Given the description of an element on the screen output the (x, y) to click on. 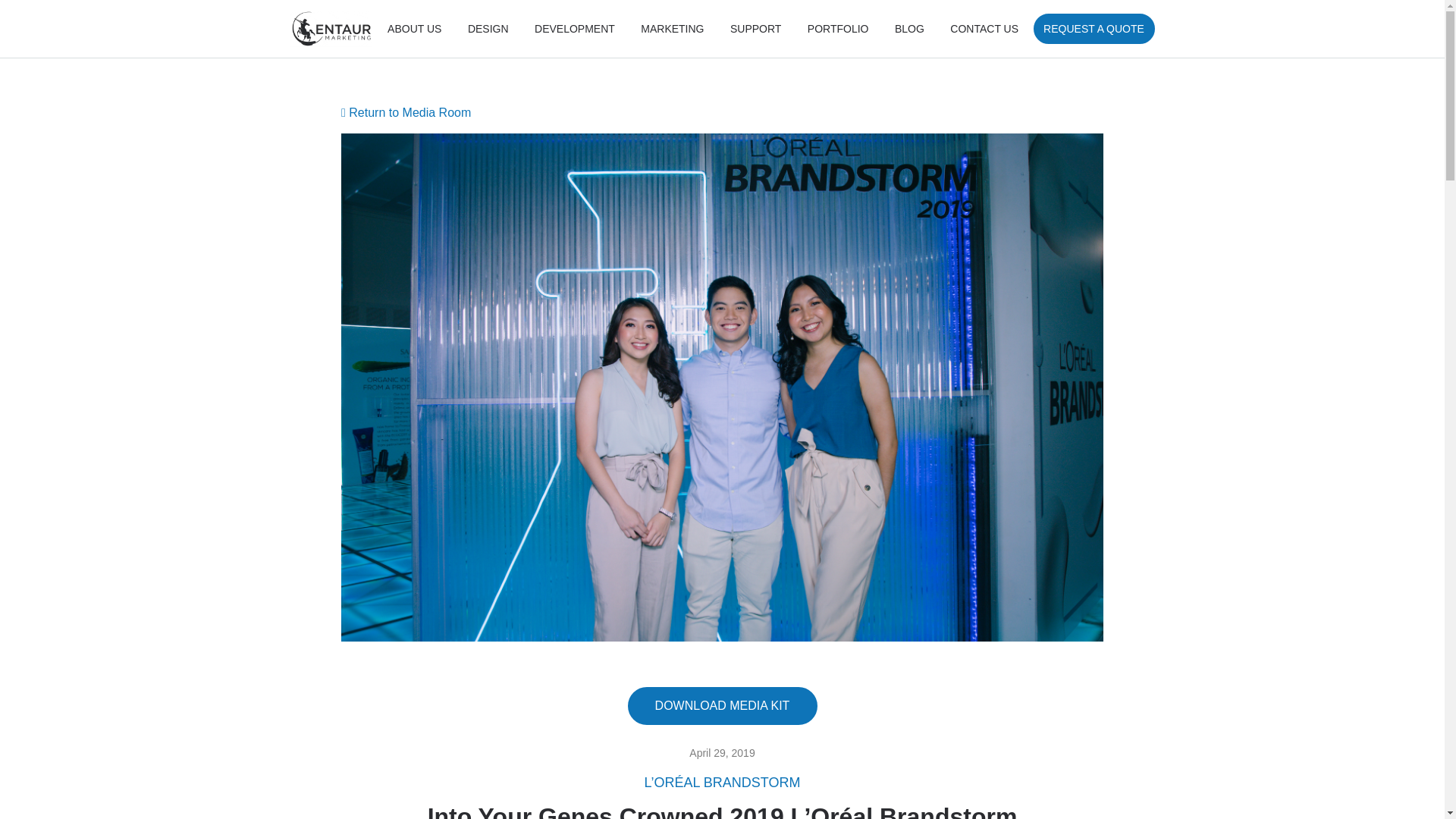
DESIGN (488, 28)
MARKETING (671, 28)
DEVELOPMENT (574, 28)
ABOUT US (413, 28)
